Given the description of an element on the screen output the (x, y) to click on. 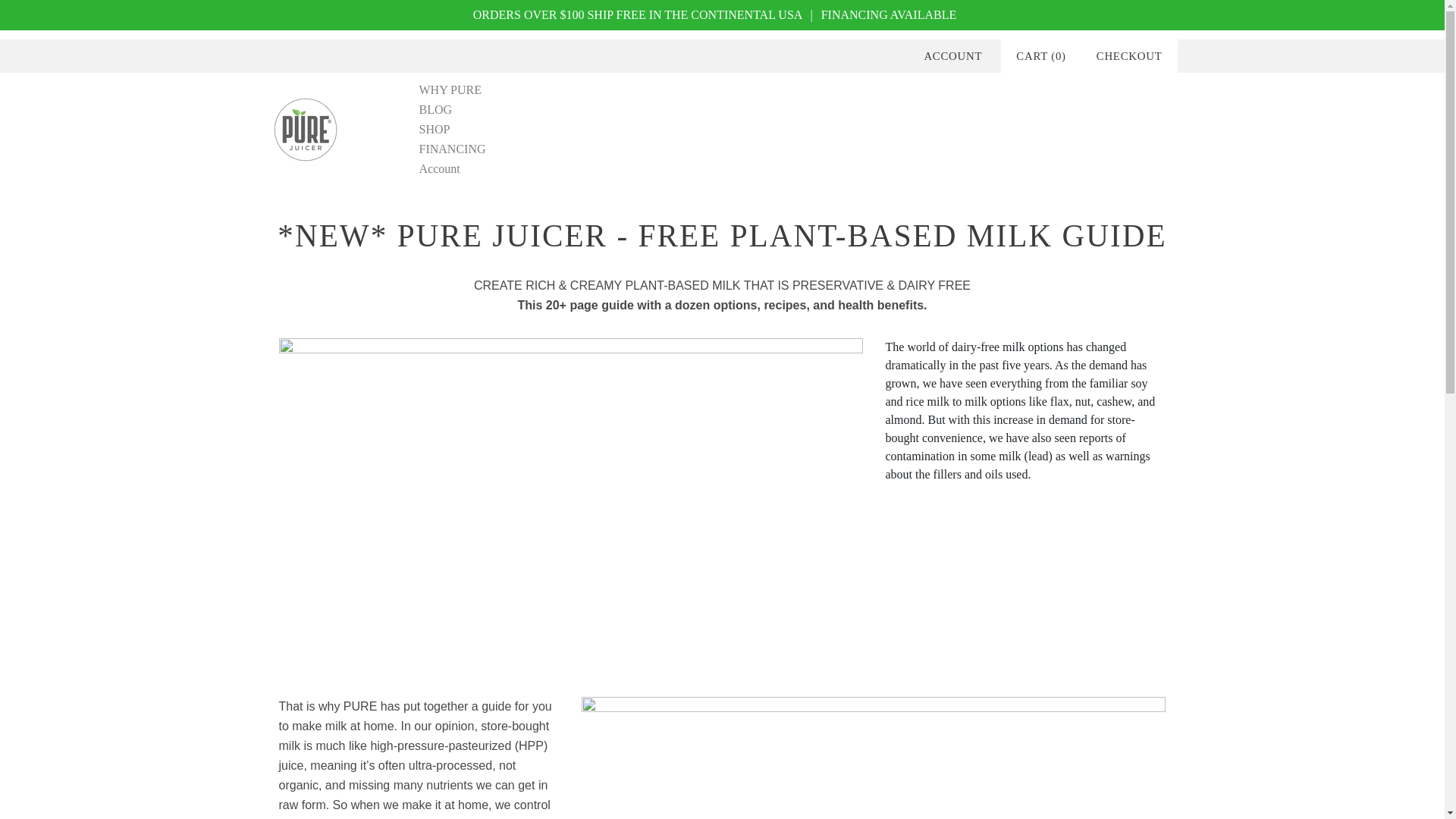
WHY PURE (450, 89)
CHECKOUT (1129, 55)
Account (439, 168)
BLOG (435, 109)
ACCOUNT (952, 55)
FINANCING (451, 148)
SHOP (434, 128)
